Given the description of an element on the screen output the (x, y) to click on. 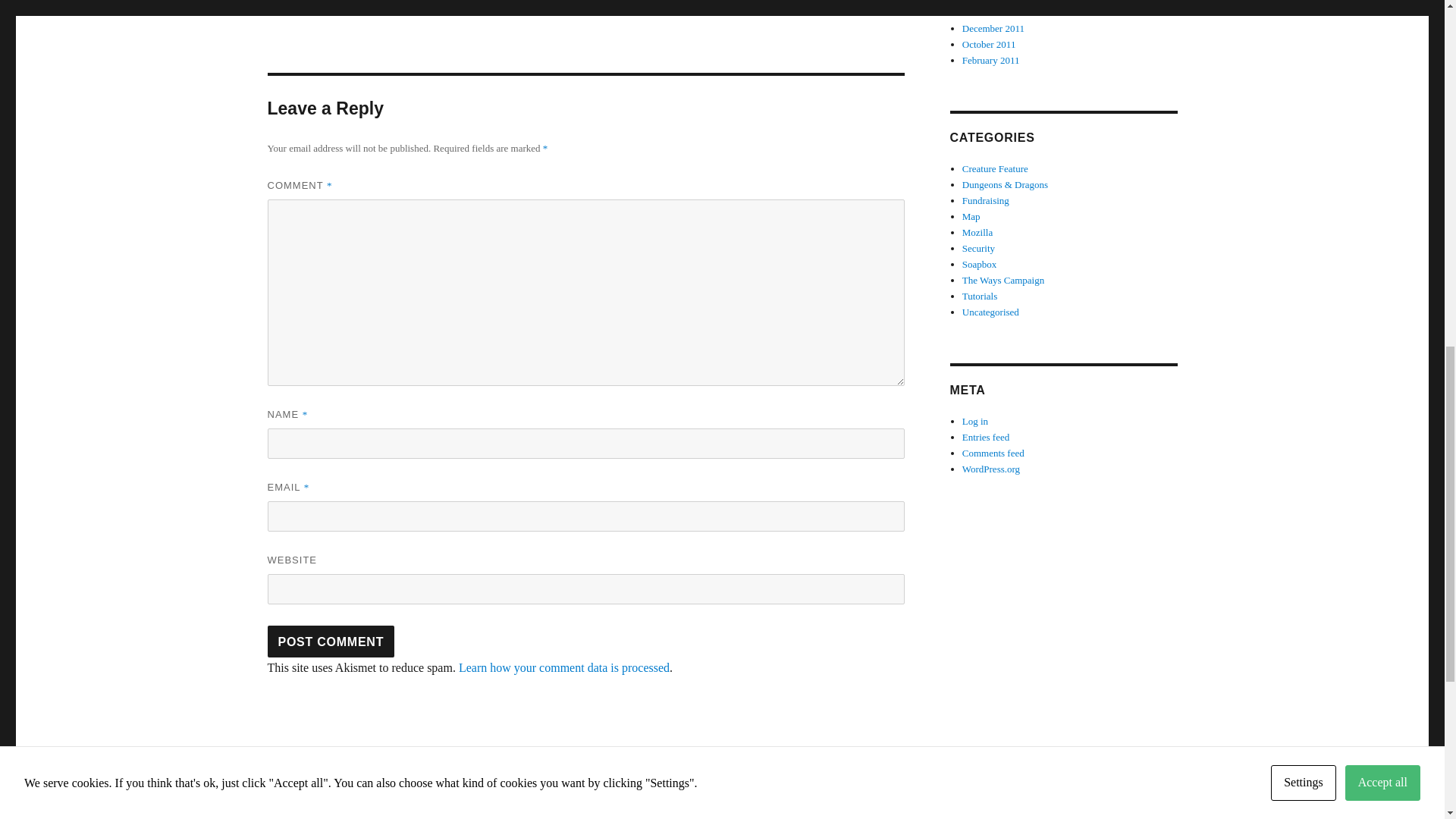
October 2011 (989, 43)
Post Comment (330, 641)
February 2011 (991, 60)
Post Comment (330, 641)
Learn how your comment data is processed (563, 667)
May 2012 (982, 1)
March 2012 (986, 12)
December 2011 (993, 28)
